Given the description of an element on the screen output the (x, y) to click on. 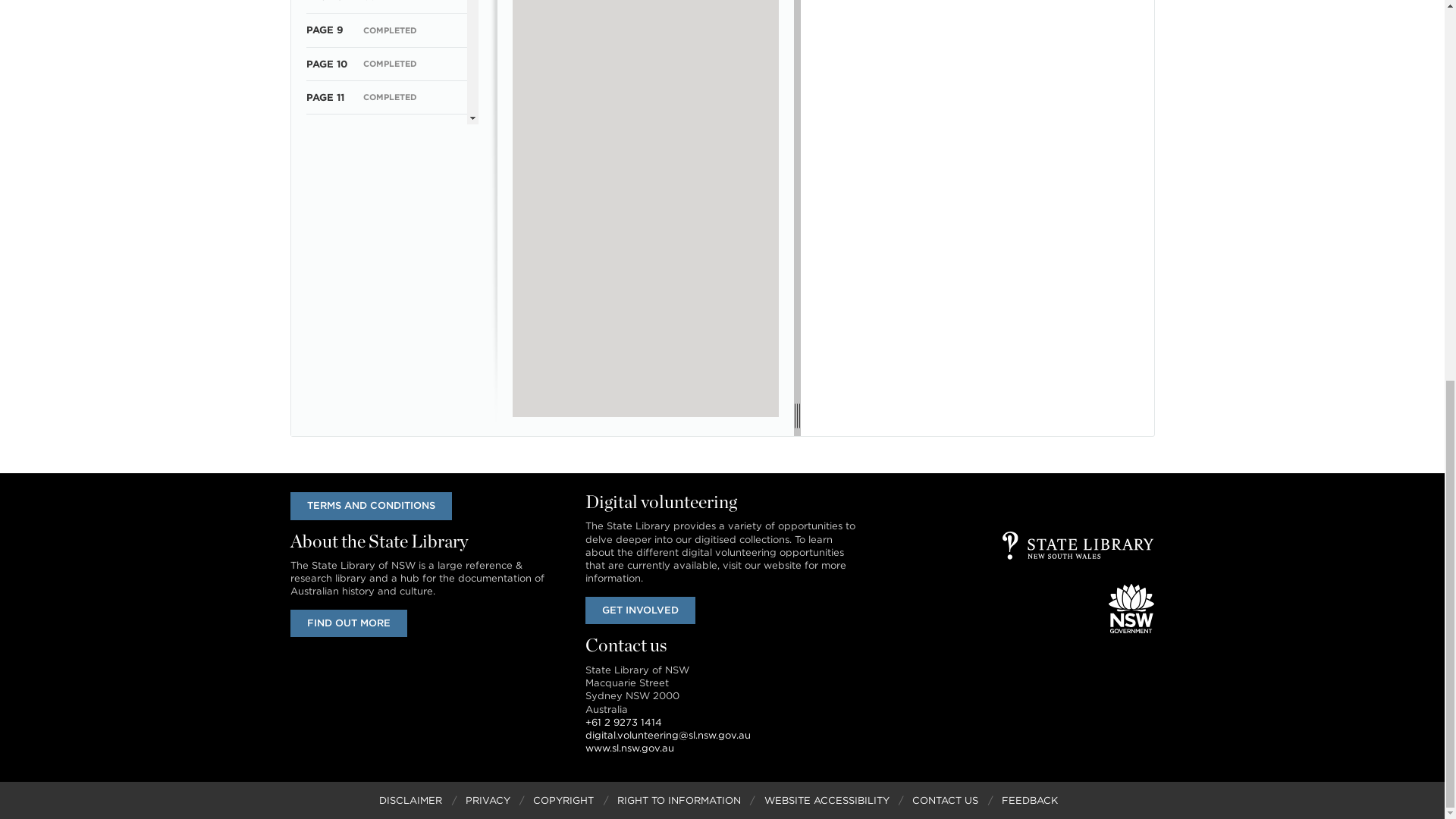
PAGE 20 (327, 399)
PAGE 13 (325, 164)
PAGE 14 (326, 197)
PAGE 16 (326, 265)
PAGE 23 (327, 500)
PAGE 25 (327, 567)
PAGE 11 (324, 97)
PAGE 21 (325, 432)
PAGE 12 (325, 130)
PAGE 18 (325, 332)
